Given the description of an element on the screen output the (x, y) to click on. 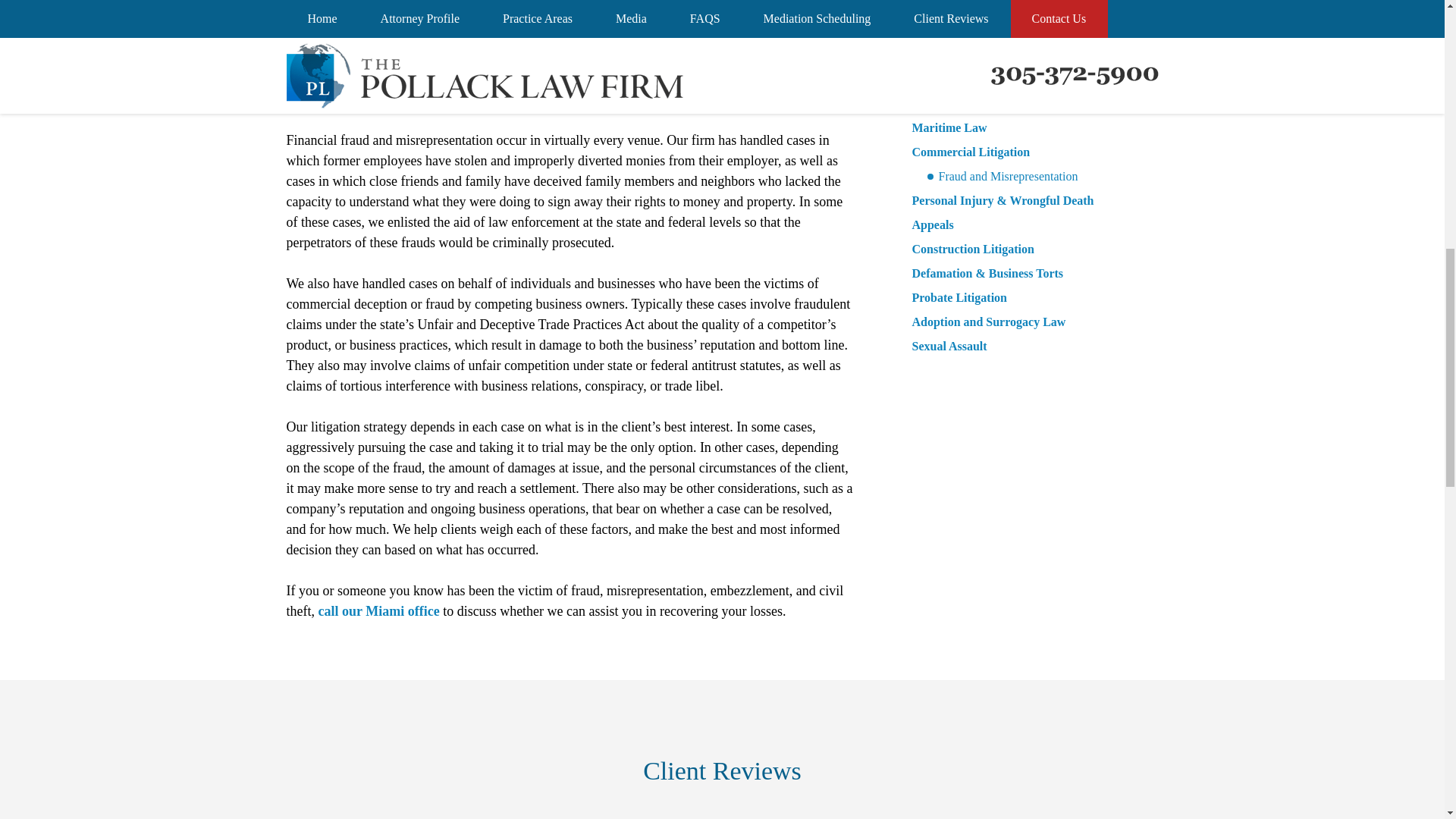
Commercial Litigation (970, 151)
SUBMIT (1024, 15)
call our Miami office (378, 611)
Sexual Assault (949, 345)
Construction Litigation (972, 248)
Adoption and Surrogacy Law (988, 321)
Appeals (932, 224)
Probate Litigation (958, 297)
Practice Areas (954, 95)
Maritime Law (949, 127)
